Given the description of an element on the screen output the (x, y) to click on. 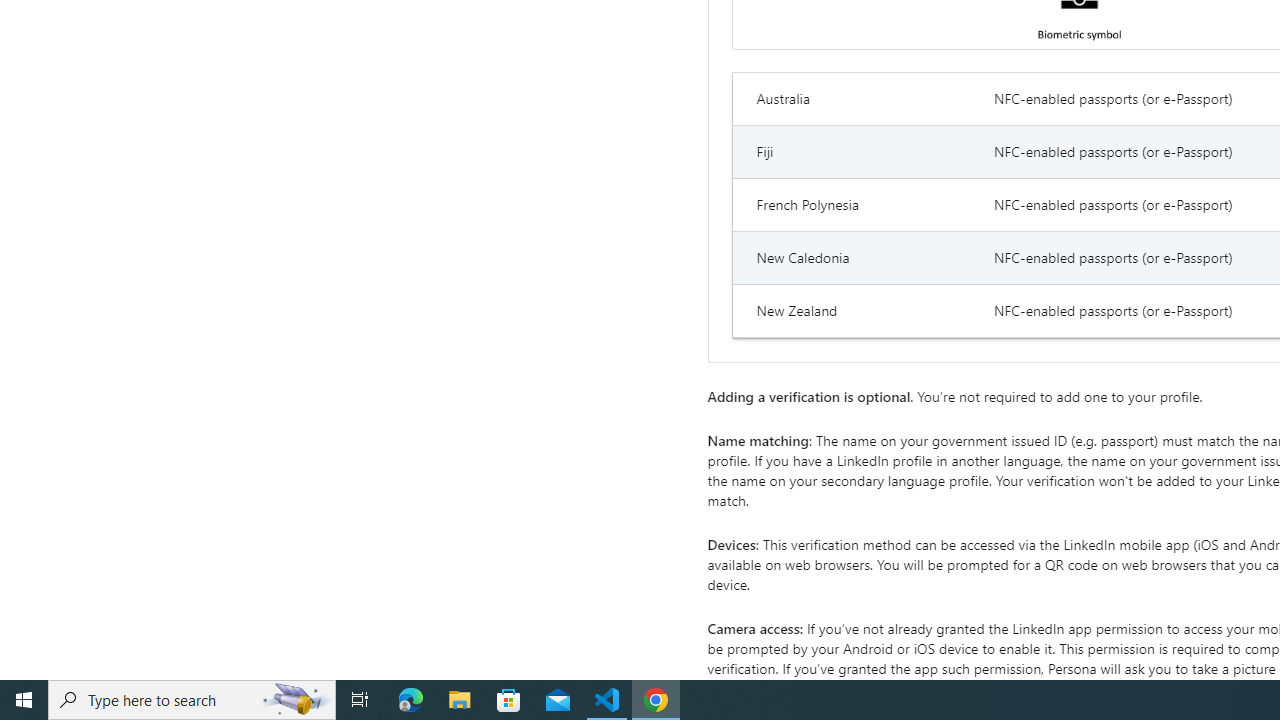
here (1211, 688)
